Given the description of an element on the screen output the (x, y) to click on. 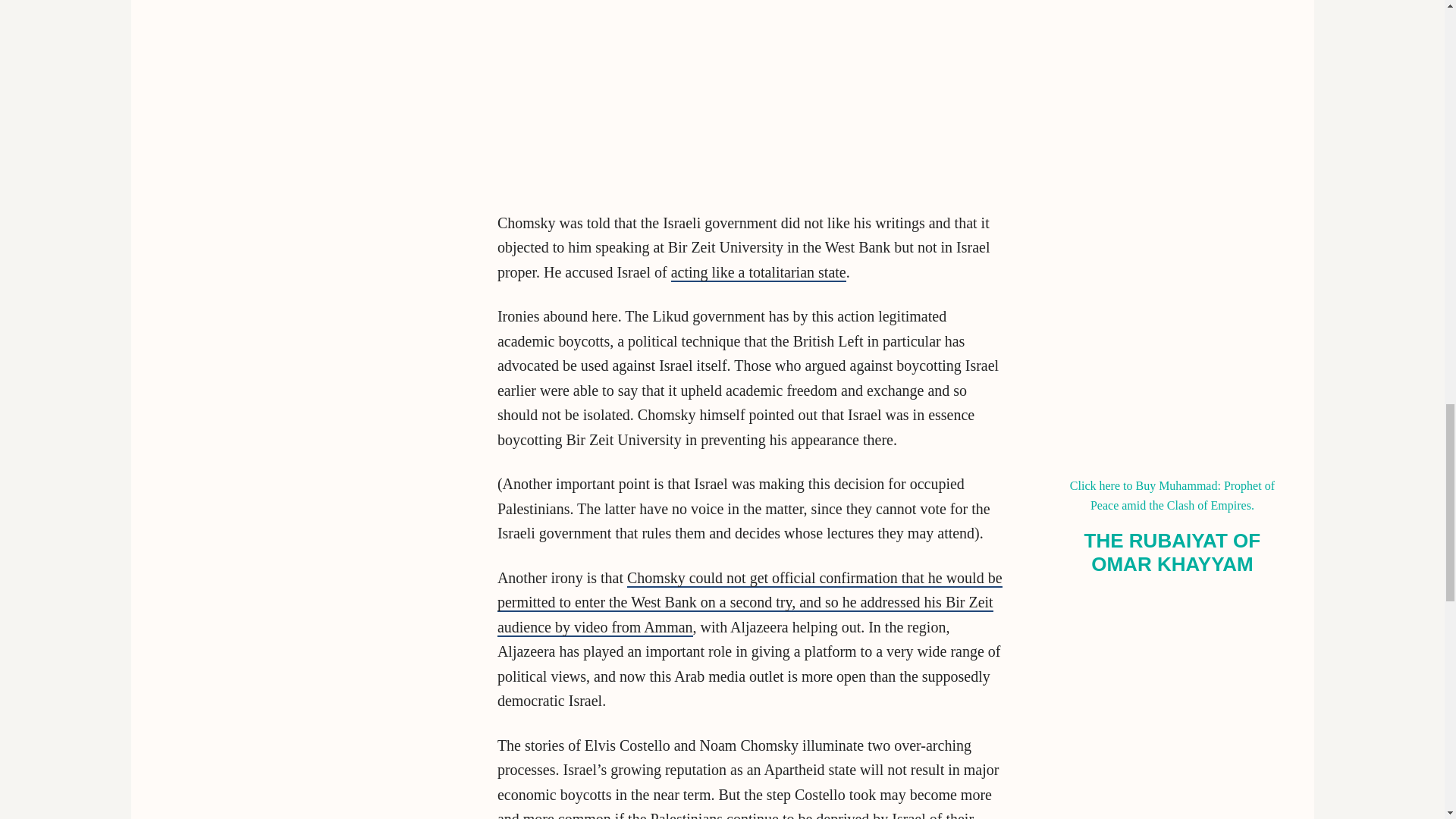
acting like a totalitarian state (758, 272)
